Given the description of an element on the screen output the (x, y) to click on. 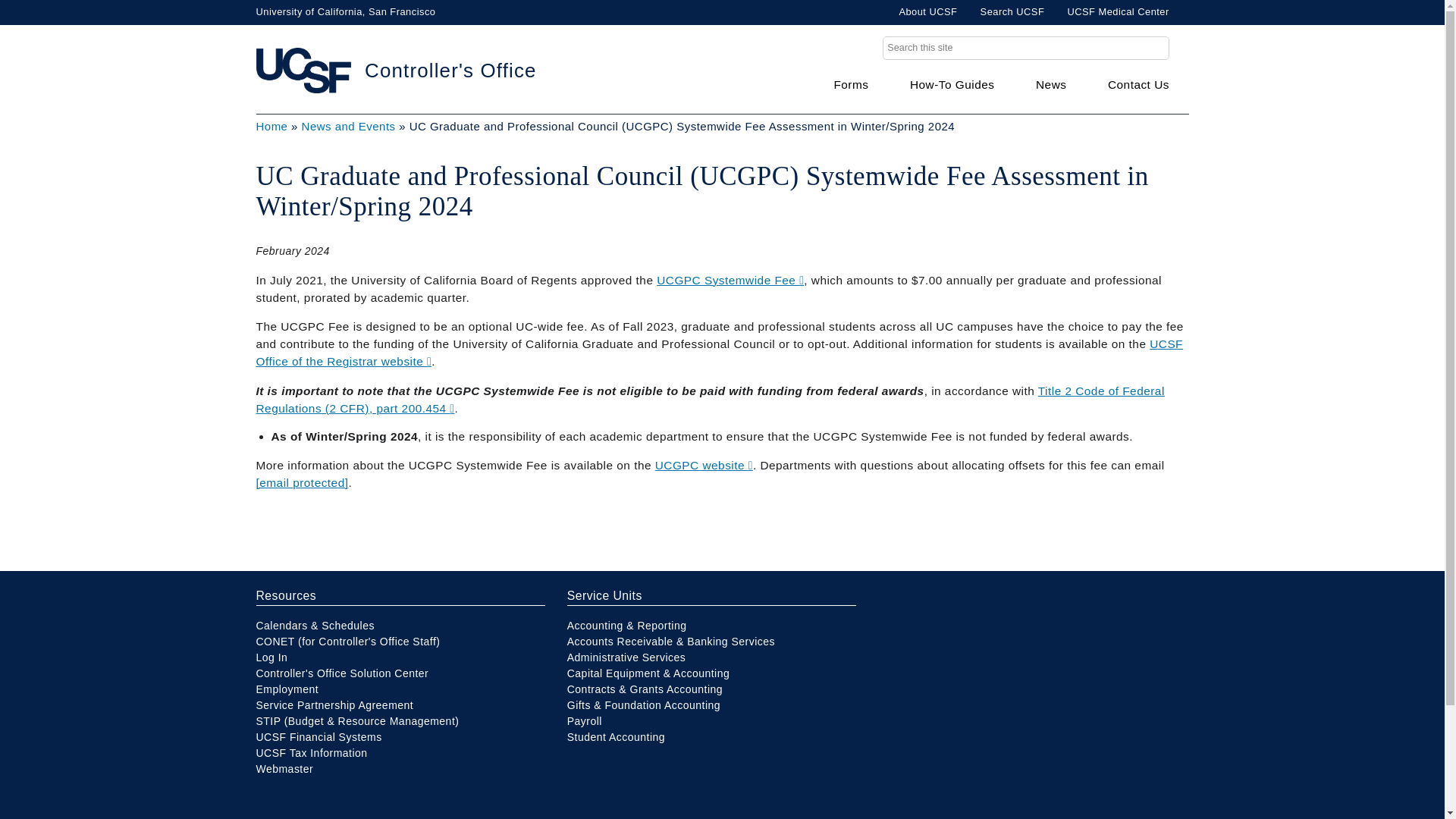
UCGPC website (703, 464)
News (1050, 84)
Student Accounting (616, 736)
UCSF Office of the Registrar website (719, 352)
Enter the terms you wish to search for. (1025, 47)
Contact Us (1138, 84)
Forms (849, 84)
Search this site (1025, 47)
UCSF Medical Center (1118, 12)
Webmaster (285, 768)
